Given the description of an element on the screen output the (x, y) to click on. 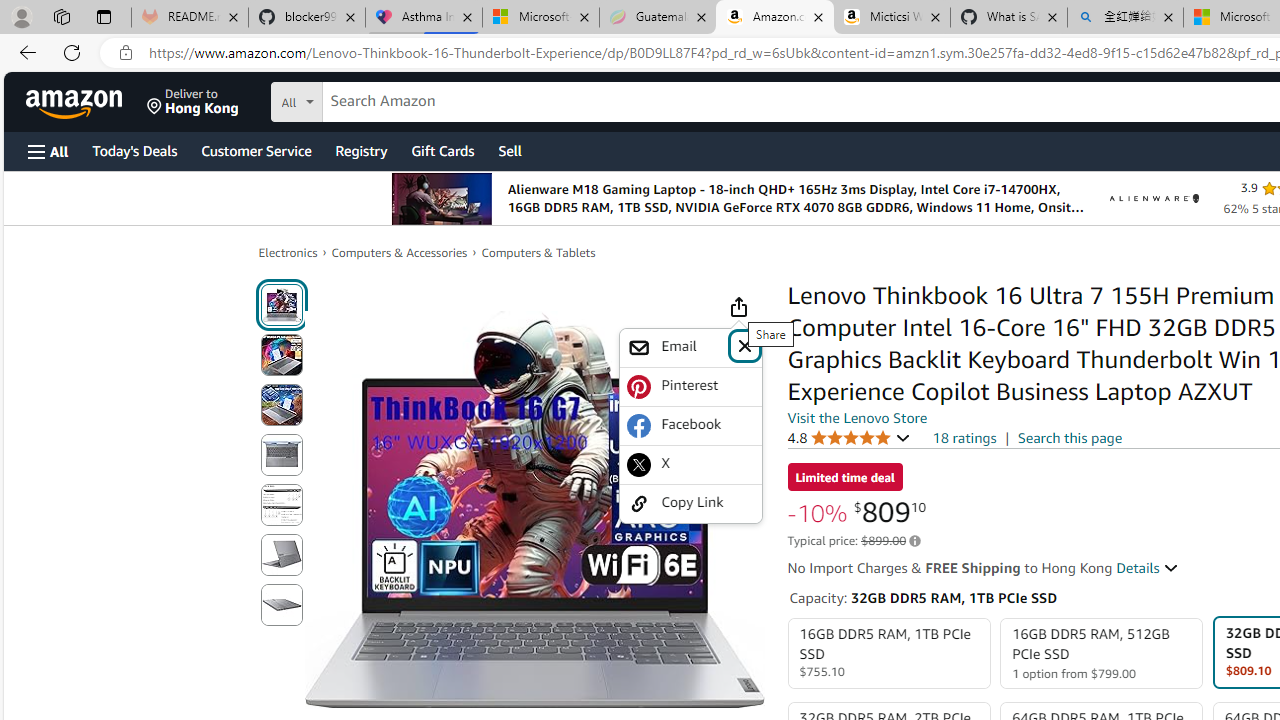
Details  (1148, 568)
Facebook (690, 425)
Electronics (287, 252)
Gift Cards (442, 150)
Customer Service (256, 150)
4.8 4.8 out of 5 stars (849, 437)
X (690, 464)
Share (738, 307)
Computers & Accessories (399, 251)
Email (676, 347)
Visit the Lenovo Store (857, 417)
Pinterest (690, 386)
